Given the description of an element on the screen output the (x, y) to click on. 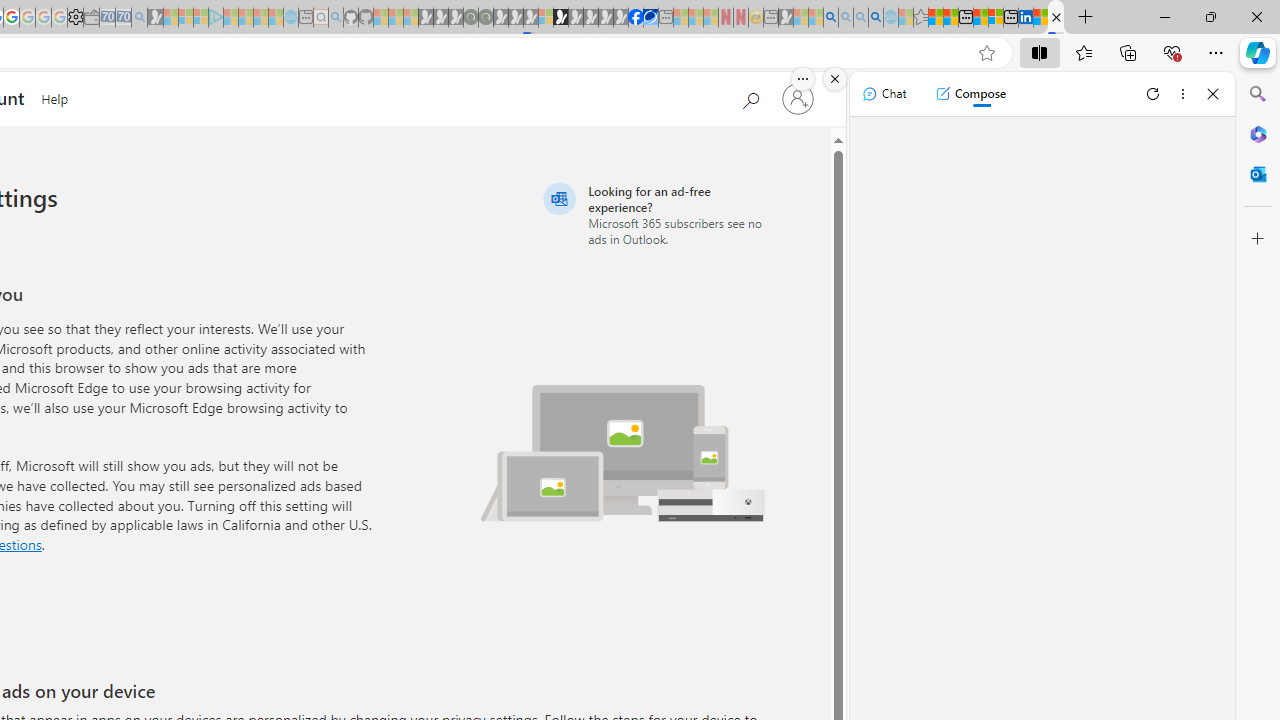
MSN - Sleeping (786, 17)
Microsoft Start Gaming - Sleeping (155, 17)
Search Microsoft.com (750, 97)
